Given the description of an element on the screen output the (x, y) to click on. 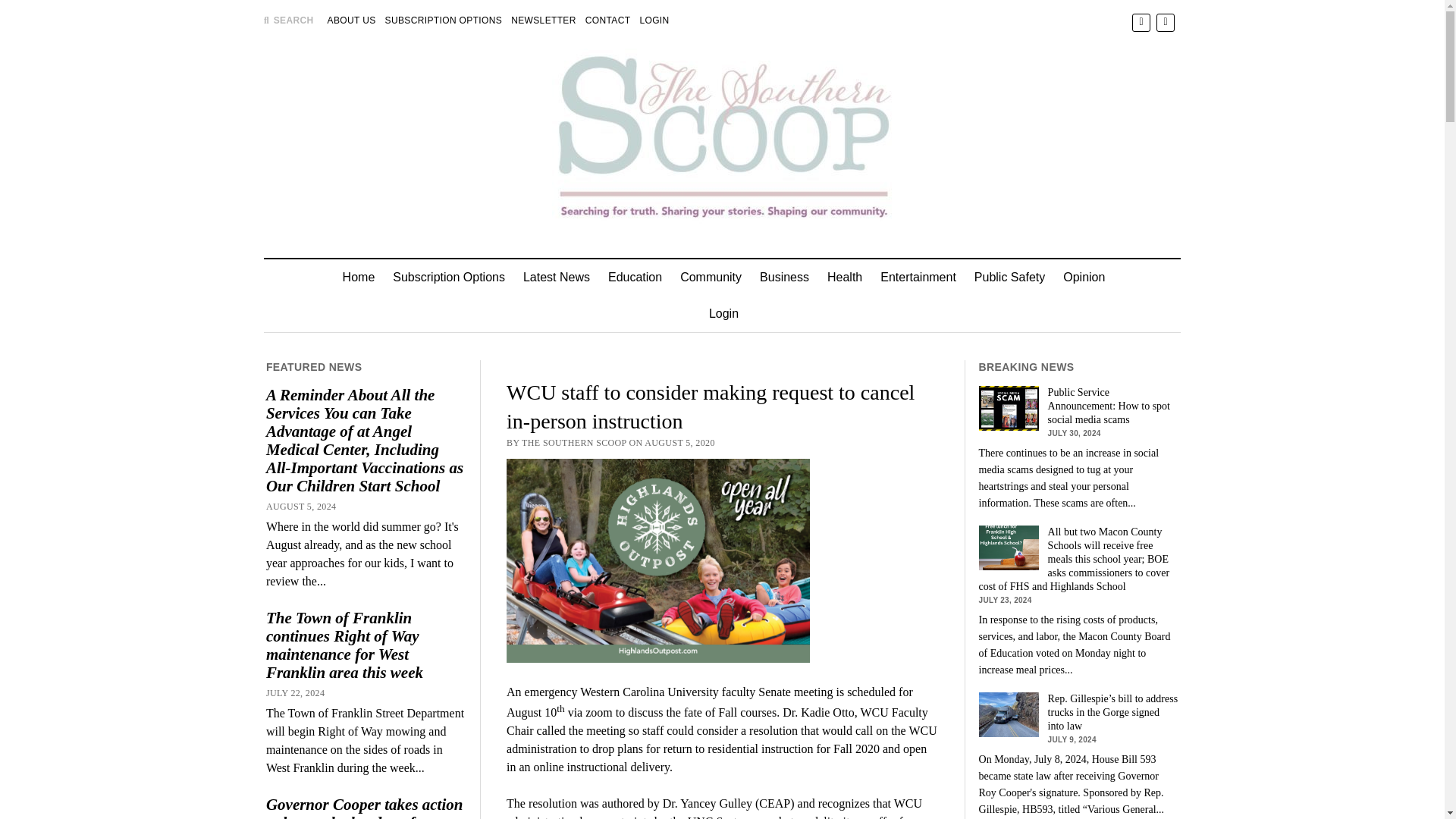
Opinion (1083, 277)
Home (358, 277)
Business (784, 277)
SEARCH (288, 20)
ABOUT US (351, 20)
Community (711, 277)
Search (945, 129)
Entertainment (917, 277)
